Given the description of an element on the screen output the (x, y) to click on. 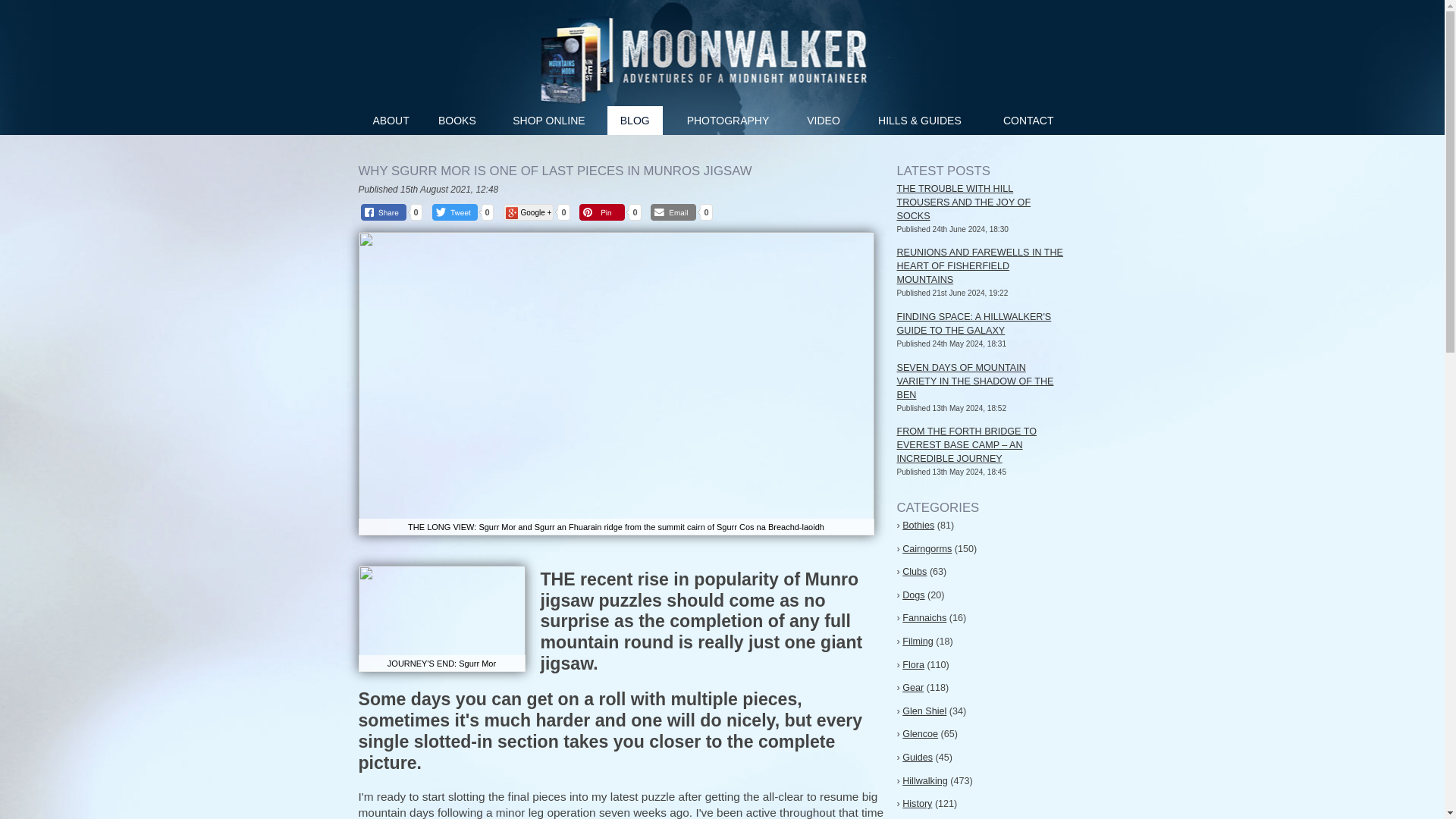
Video (823, 120)
BLOG (634, 120)
JOURNEY'S END: Sgurr Mor (441, 618)
Cairngorms (927, 548)
BOOKS (456, 120)
Dogs (913, 594)
Blog (634, 120)
About (390, 120)
Filming (917, 641)
REUNIONS AND FAREWELLS IN THE HEART OF FISHERFIELD MOUNTAINS (979, 266)
Books (456, 120)
Bothies (918, 525)
FINDING SPACE: A HILLWALKER'S GUIDE TO THE GALAXY (973, 323)
Guides (917, 757)
